Given the description of an element on the screen output the (x, y) to click on. 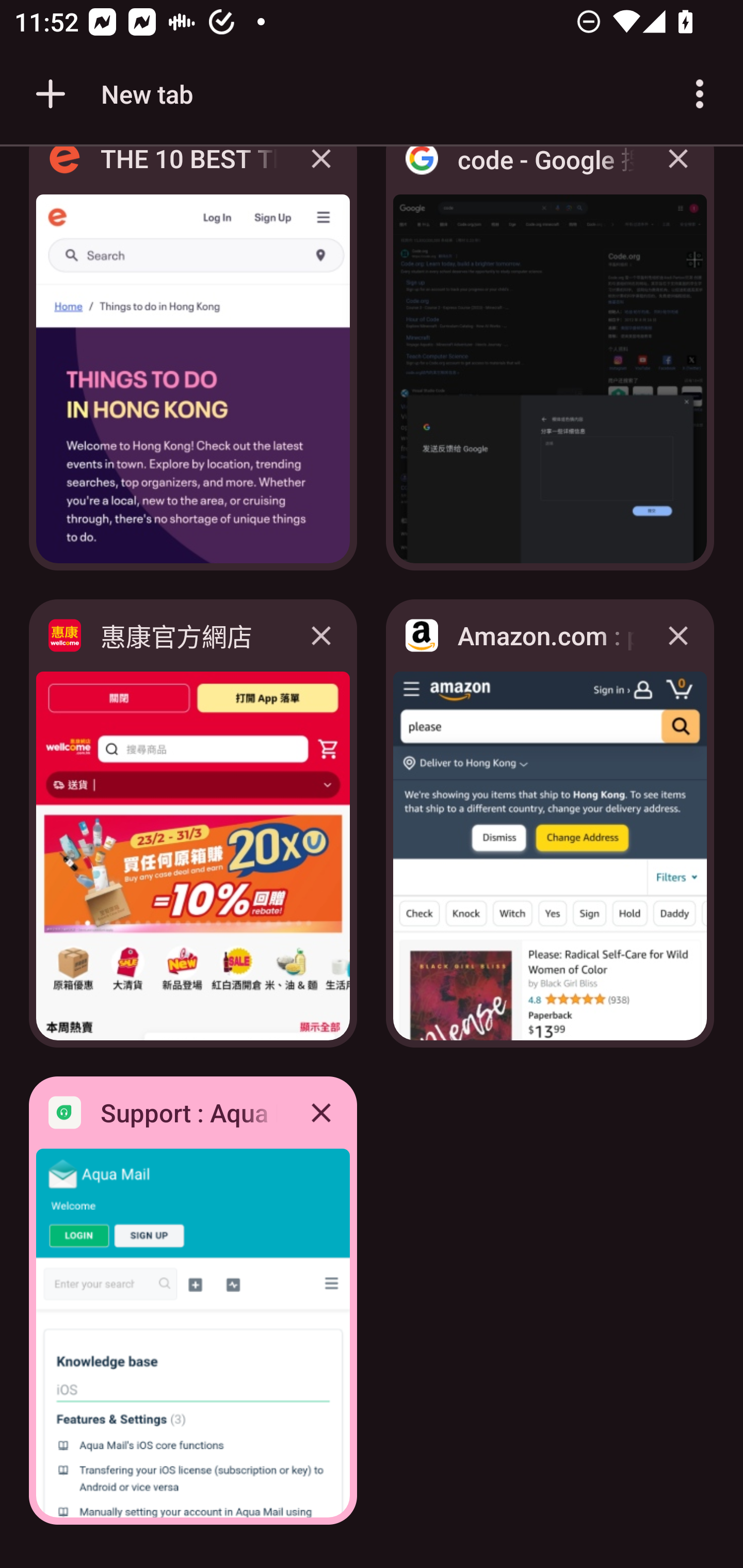
New tab (111, 93)
Customize and control Google Chrome (699, 93)
Close code - Google 搜索 tab (677, 173)
惠康官方網店 惠康官方網店, tab Close 惠康官方網店 tab (192, 822)
Close 惠康官方網店 tab (320, 635)
Close Amazon.com : please tab (677, 635)
Close Support : Aqua Mail tab (320, 1112)
